Given the description of an element on the screen output the (x, y) to click on. 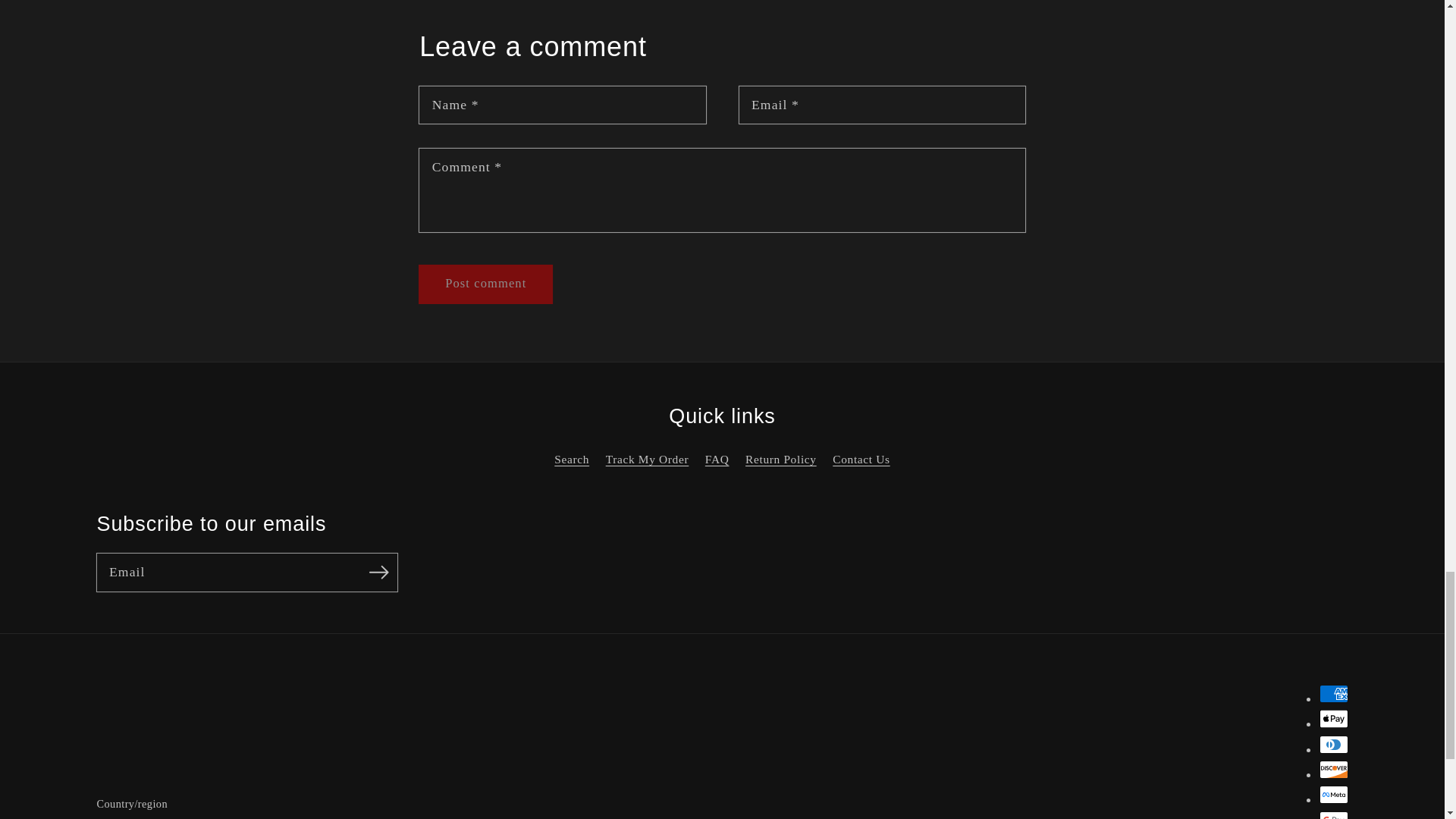
Post comment (485, 284)
Google Pay (1333, 815)
American Express (1333, 693)
Meta Pay (1333, 794)
Discover (1333, 769)
Diners Club (1333, 744)
Apple Pay (1333, 719)
